Given the description of an element on the screen output the (x, y) to click on. 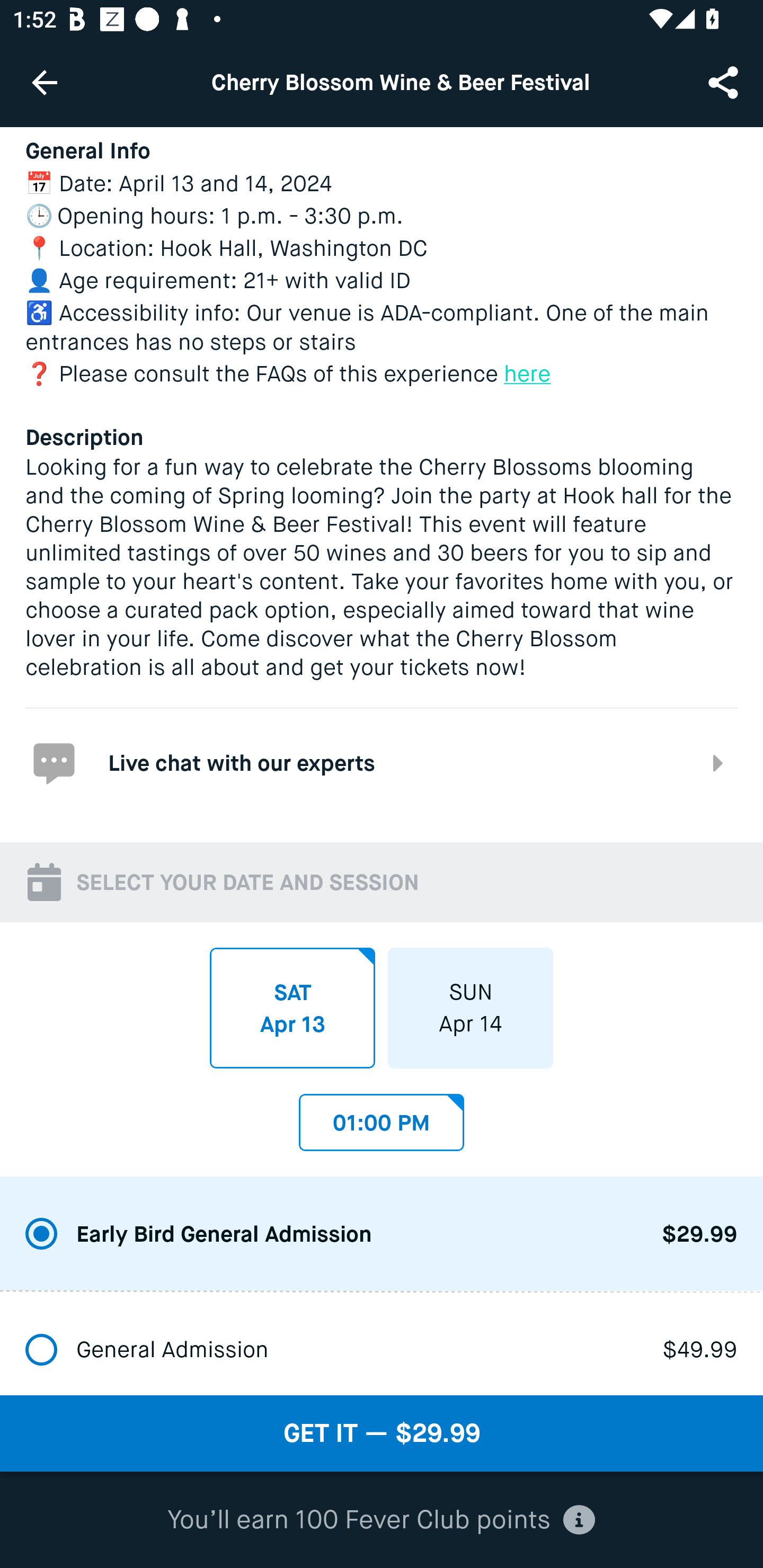
Navigate up (44, 82)
Share (724, 81)
Live chat with our experts (381, 761)
SAT
Apr 13 (292, 1007)
SUN
Apr 14 (470, 1007)
01:00 PM (381, 1117)
Early Bird General Admission $29.99 (381, 1234)
General Admission $49.99 (381, 1343)
GET IT — $29.99 (381, 1433)
You’ll earn 100 Fever Club points (381, 1519)
